Given the description of an element on the screen output the (x, y) to click on. 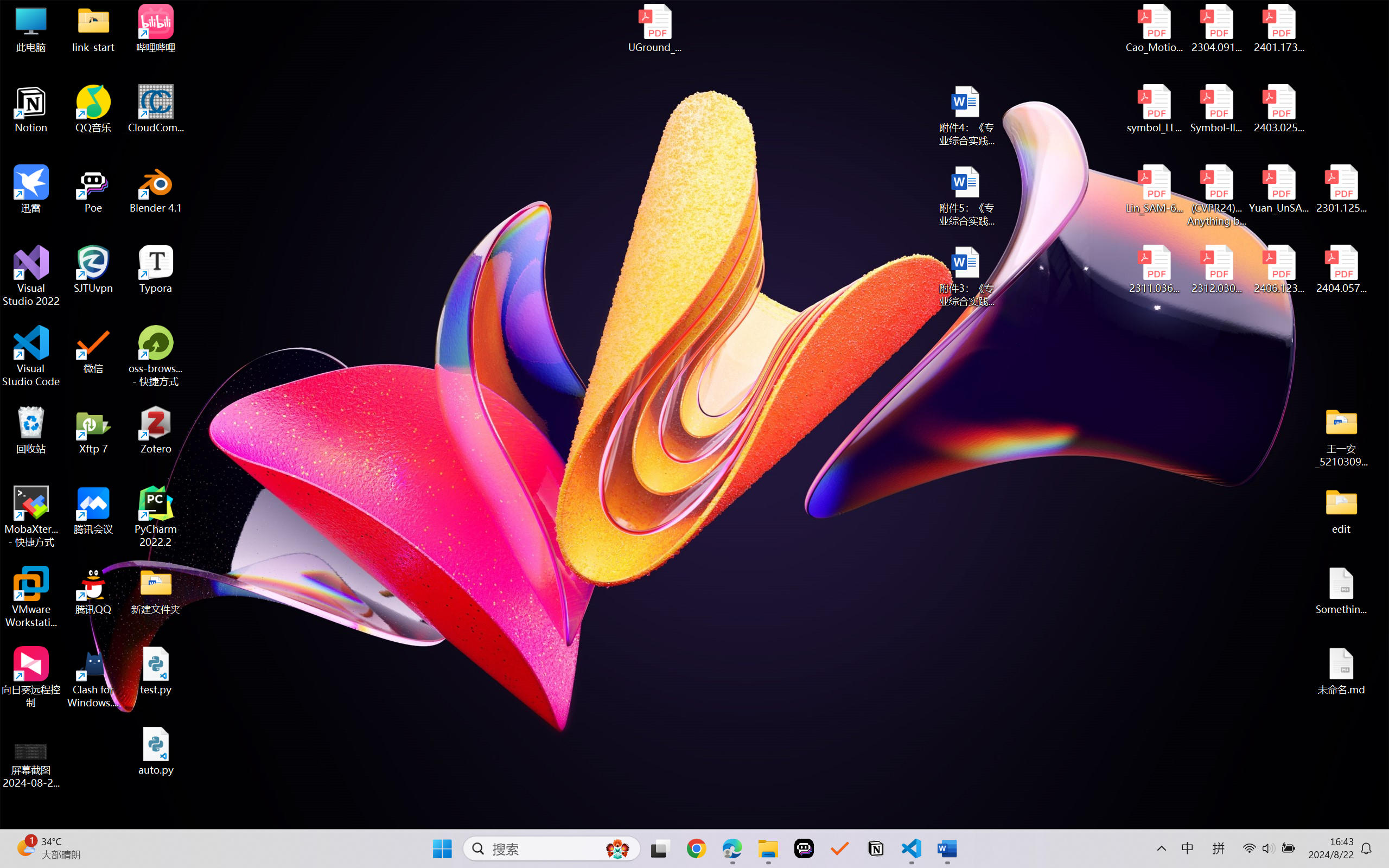
2311.03658v2.pdf (1154, 269)
symbol_LLM.pdf (1154, 109)
(CVPR24)Matching Anything by Segmenting Anything.pdf (1216, 195)
2406.12373v2.pdf (1278, 269)
Blender 4.1 (156, 189)
